Given the description of an element on the screen output the (x, y) to click on. 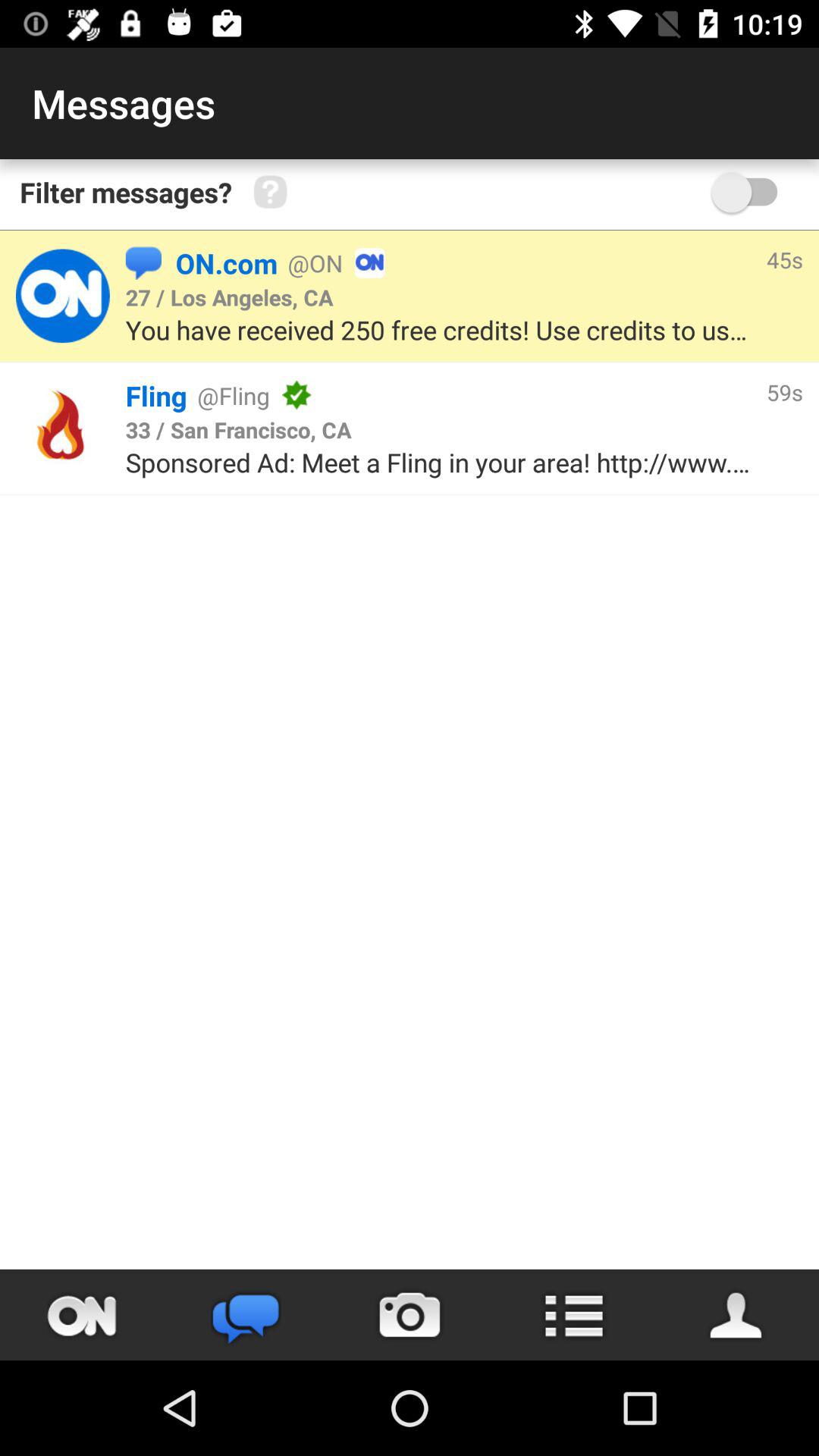
click advertisement (62, 428)
